Given the description of an element on the screen output the (x, y) to click on. 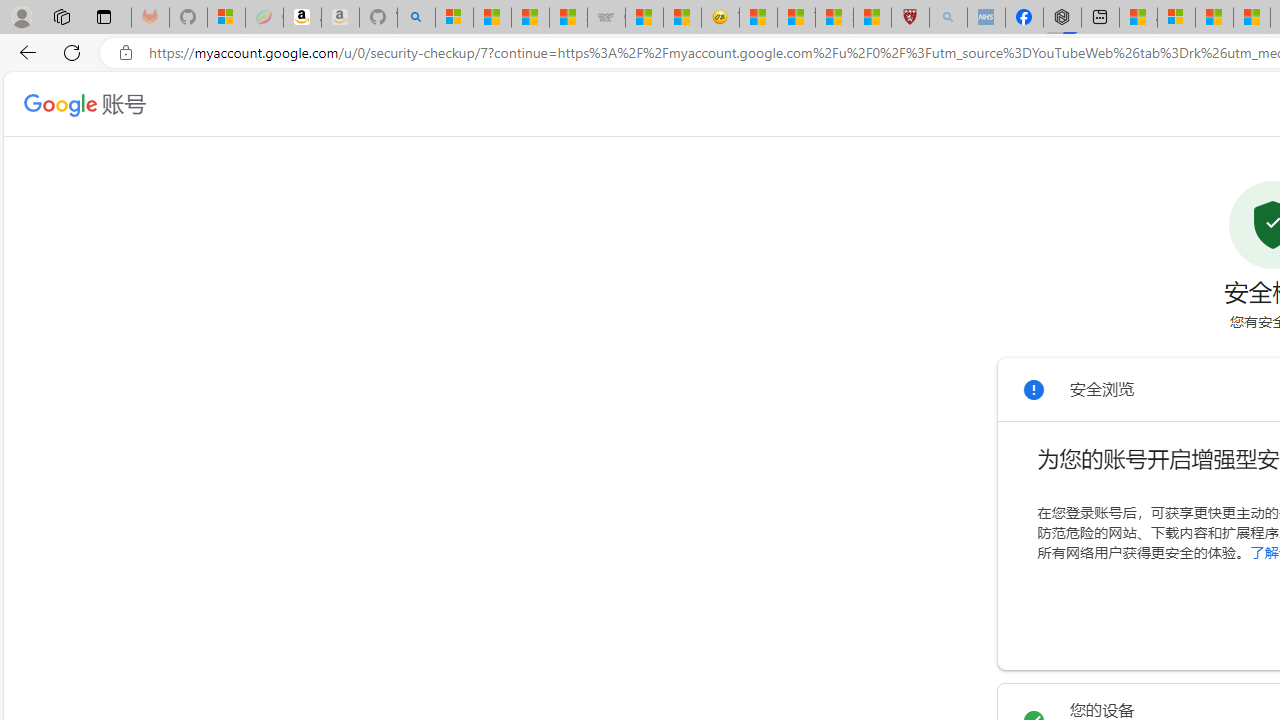
Combat Siege (605, 17)
Robert H. Shmerling, MD - Harvard Health (910, 17)
